Given the description of an element on the screen output the (x, y) to click on. 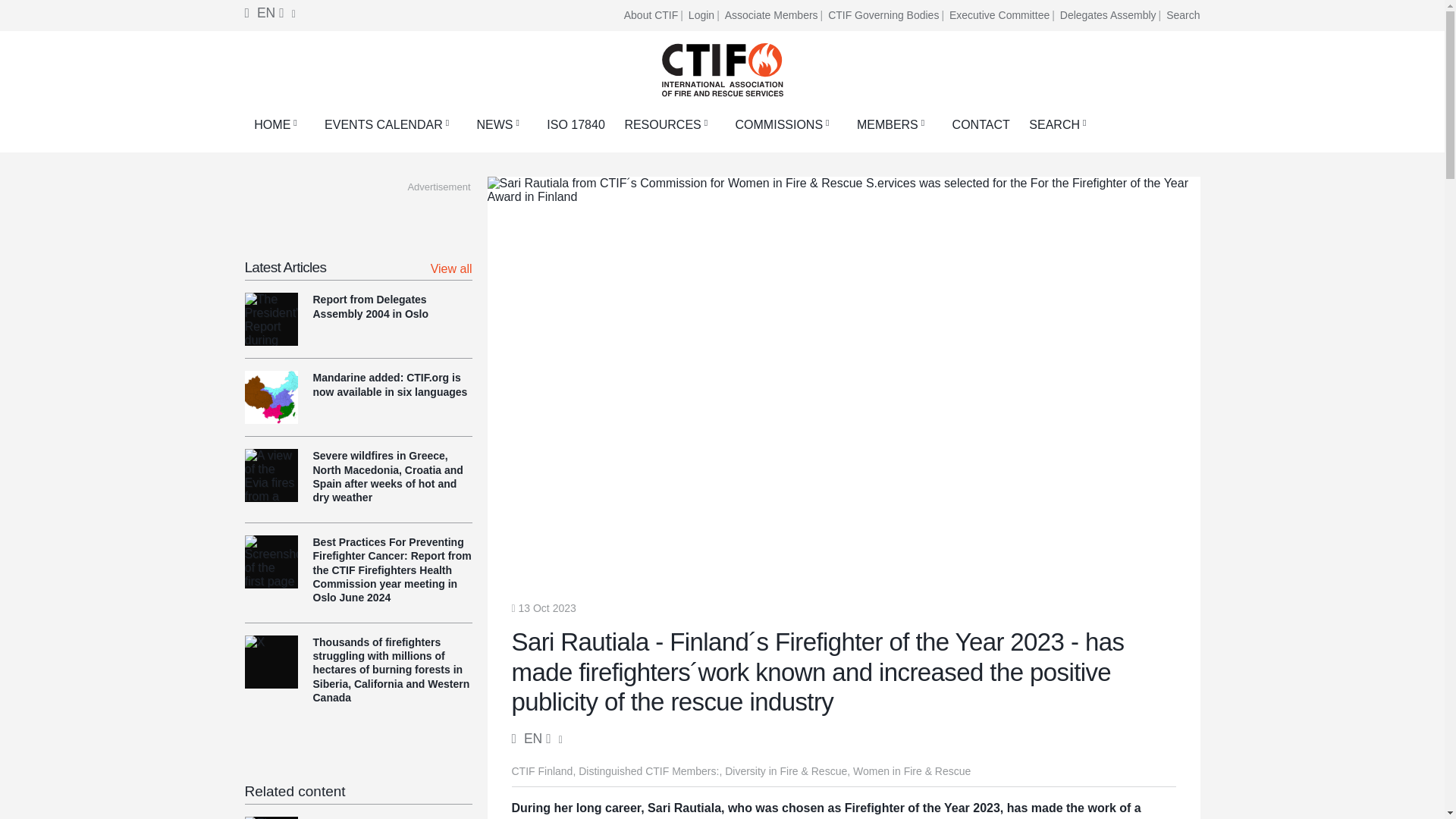
Delegates Assembly (1111, 15)
About CTIF (654, 15)
Executive Committee (1003, 15)
CTIF Governing Bodies (887, 15)
Login (705, 15)
Associate Members (775, 15)
Search (1182, 15)
ISO 17840 (575, 124)
